Given the description of an element on the screen output the (x, y) to click on. 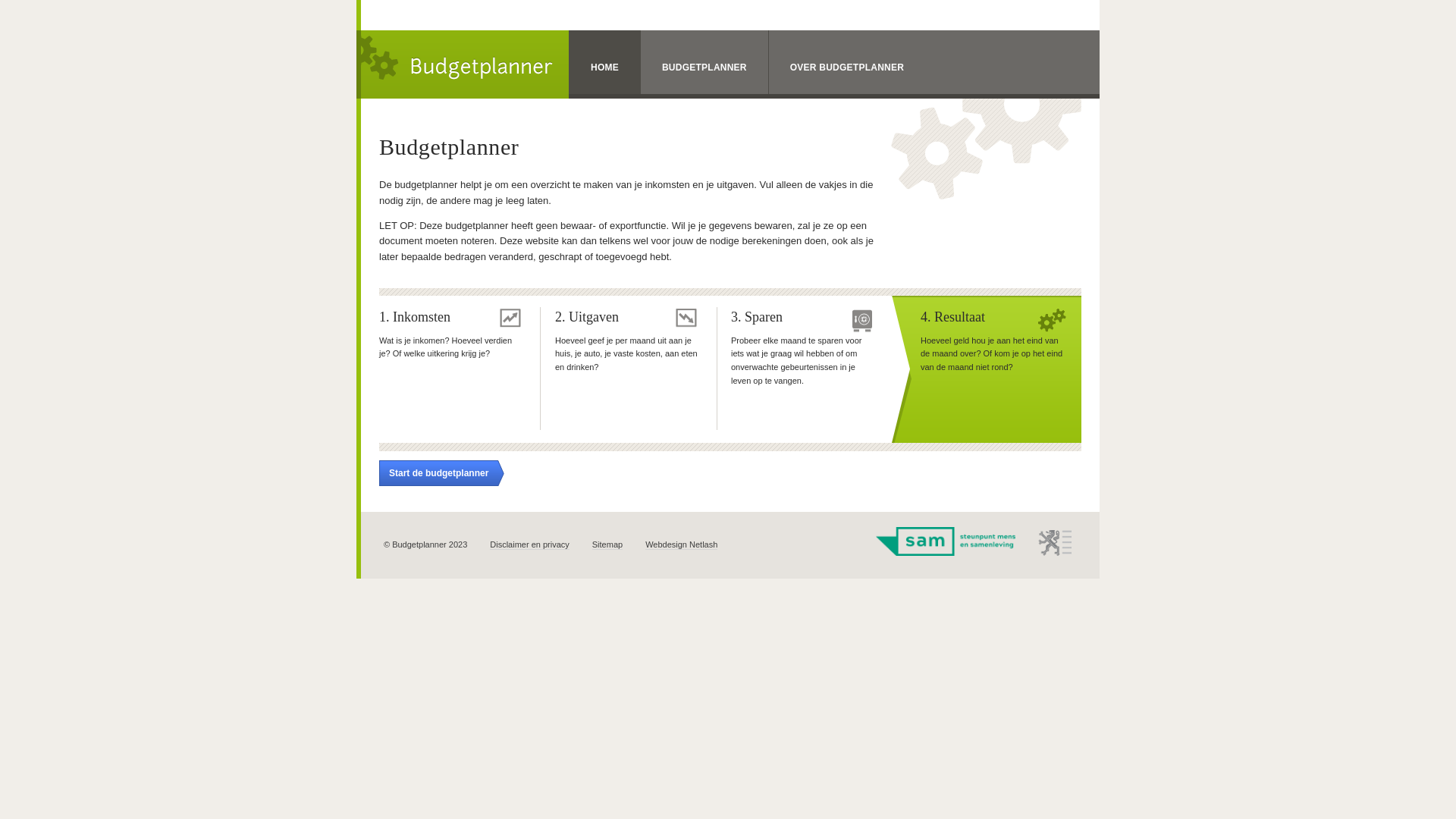
Start de budgetplanner
  Element type: text (441, 473)
Vlaamse Overheid Element type: text (1055, 542)
Disclaimer en privacy Element type: text (529, 544)
Budgetplanner Element type: text (462, 64)
Webdesign Netlash Element type: text (681, 544)
Sitemap Element type: text (607, 544)
OVER BUDGETPLANNER Element type: text (846, 62)
HOME Element type: text (604, 62)
BUDGETPLANNER Element type: text (704, 62)
